Given the description of an element on the screen output the (x, y) to click on. 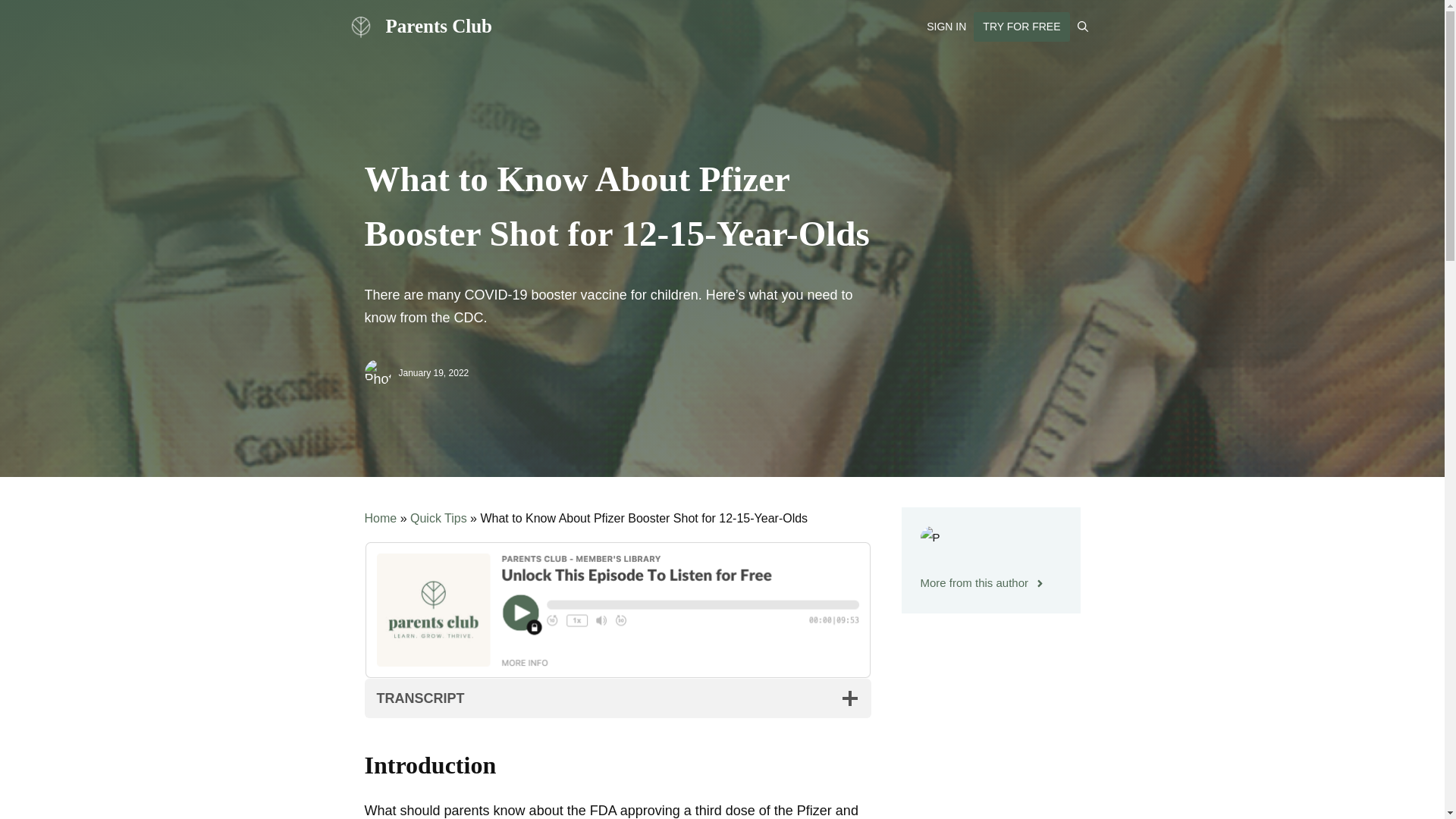
Parents Club (360, 26)
Quick Tips (438, 517)
Parents Club (360, 25)
TRANSCRIPT (617, 698)
More from this author (982, 582)
Home (380, 517)
SIGN IN (946, 26)
Parents Club (438, 25)
TRY FOR FREE (1021, 26)
